Given the description of an element on the screen output the (x, y) to click on. 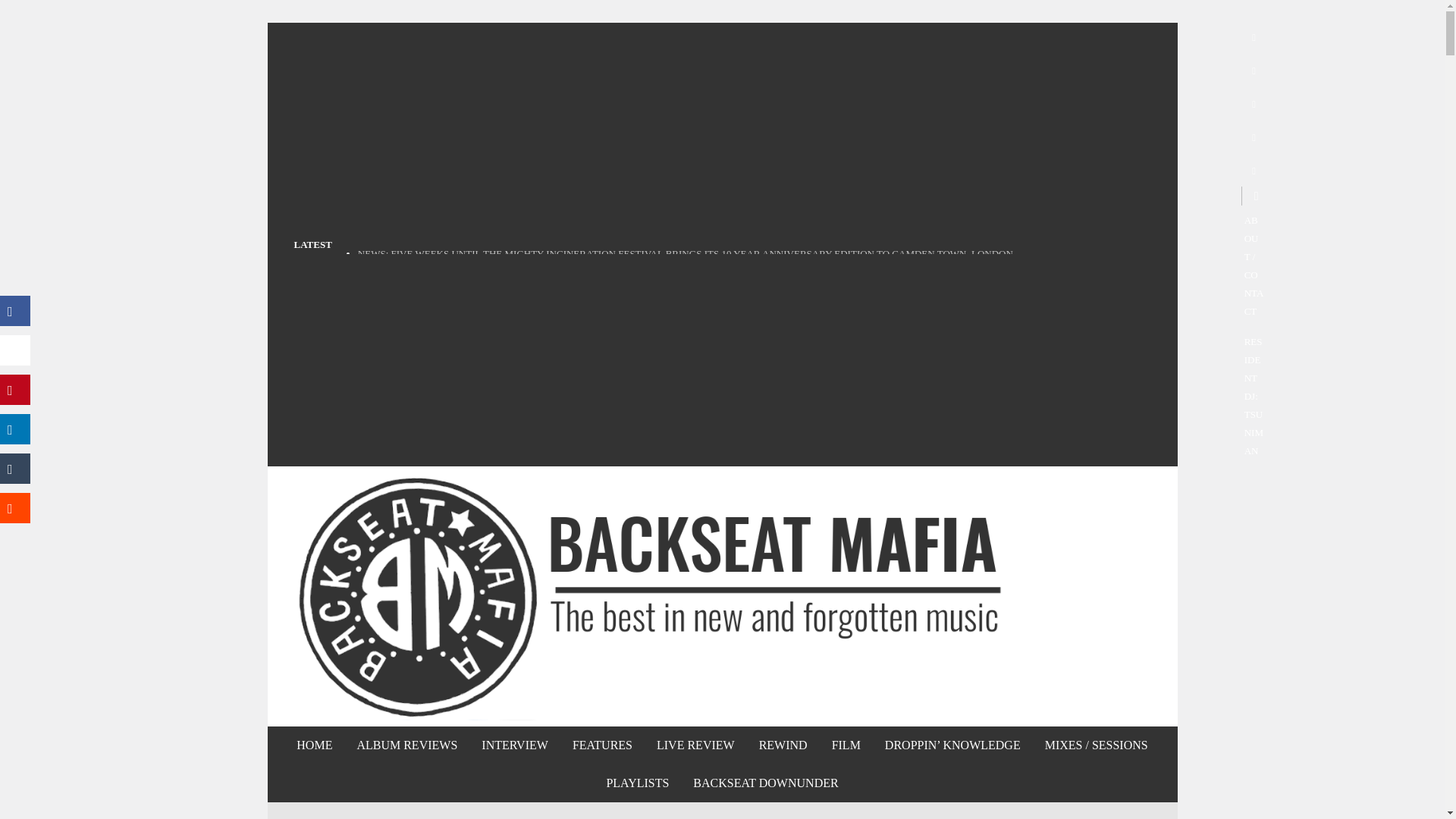
FEATURES (602, 745)
HOME (313, 745)
ALBUM REVIEWS (405, 745)
REWIND (782, 745)
LIVE REVIEW (695, 745)
FILM (845, 745)
INTERVIEW (514, 745)
PLAYLISTS (637, 783)
